Given the description of an element on the screen output the (x, y) to click on. 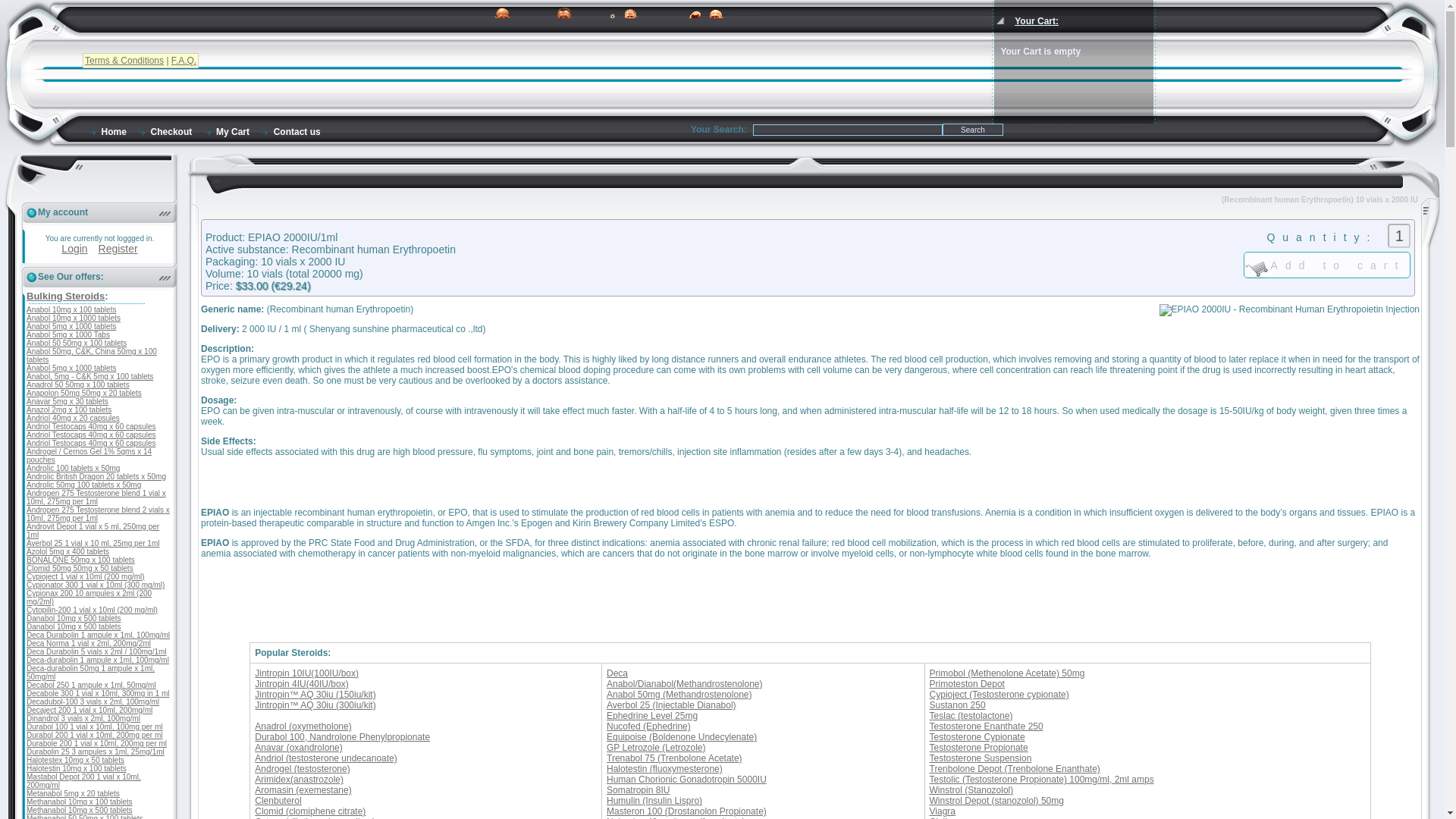
F.A.Q. (183, 60)
My Cart (225, 131)
Androvit Depot 1 vial x 5 ml, 250mg per 1ml (92, 530)
Bulking Steroids (65, 296)
Anabol 5mg x 1000 tablets (71, 367)
Anapolon 50mg 50mg x 20 tablets (83, 393)
Anazol 2mg x 100 tablets (69, 409)
Your Cart: (1036, 20)
Anavar 5mg x 30 tablets (66, 401)
Andropen 275 Testosterone blend 1 vial x 10ml, 275mg per 1ml (95, 497)
